Given the description of an element on the screen output the (x, y) to click on. 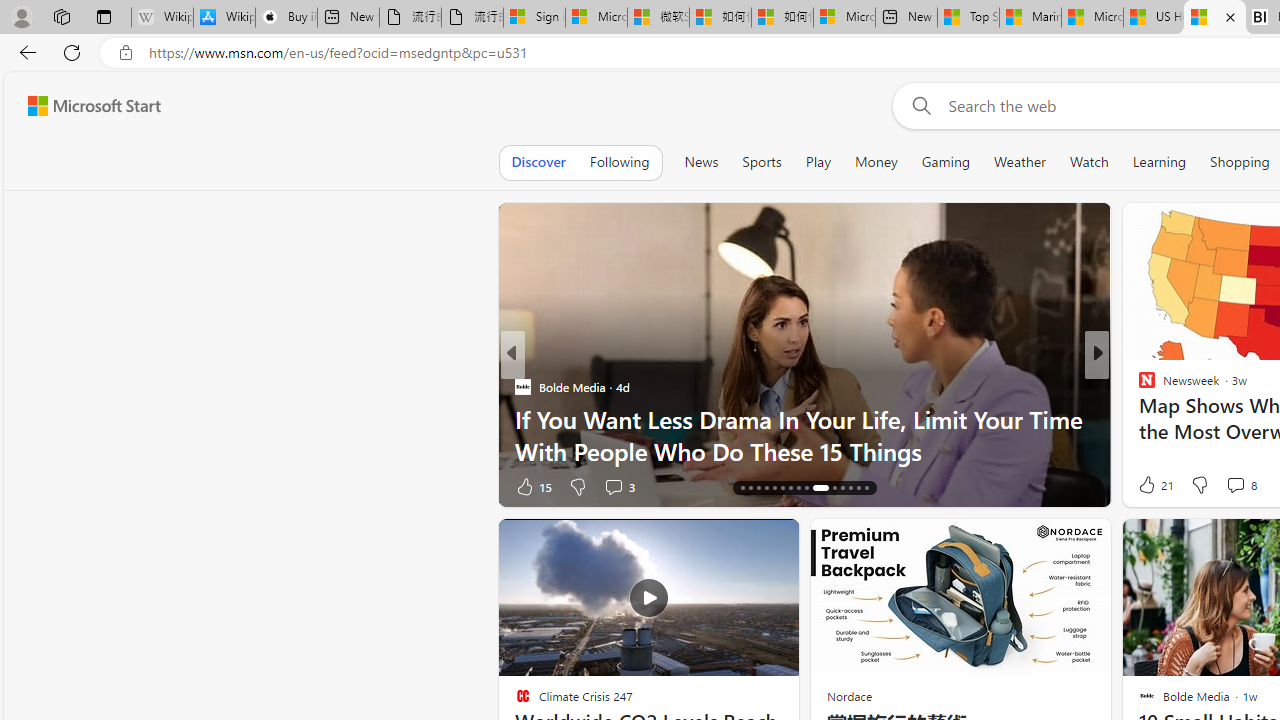
Reader's Digest (1138, 418)
View comments 18 Comment (11, 485)
Microsoft account | Account Checkup (844, 17)
AutomationID: tab-23 (797, 487)
7 Like (1145, 486)
14 Like (1149, 486)
AutomationID: tab-25 (820, 487)
US Heat Deaths Soared To Record High Last Year (1153, 17)
AutomationID: tab-19 (765, 487)
